Given the description of an element on the screen output the (x, y) to click on. 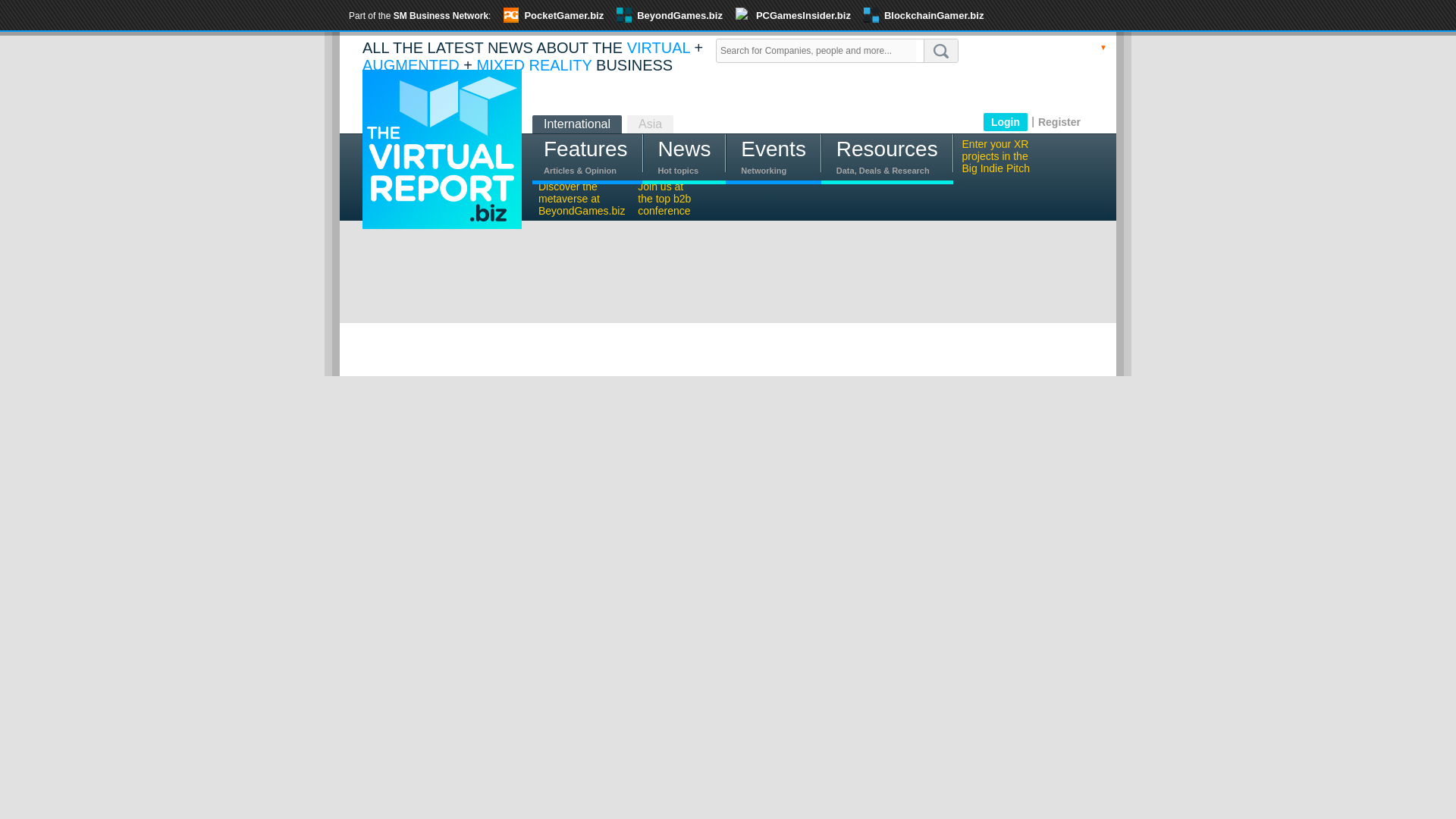
Asia (649, 124)
Login (1005, 122)
Register (1059, 122)
The Virtual Report.biz (441, 149)
The Virtual Report.biz (441, 159)
International (576, 124)
